Given the description of an element on the screen output the (x, y) to click on. 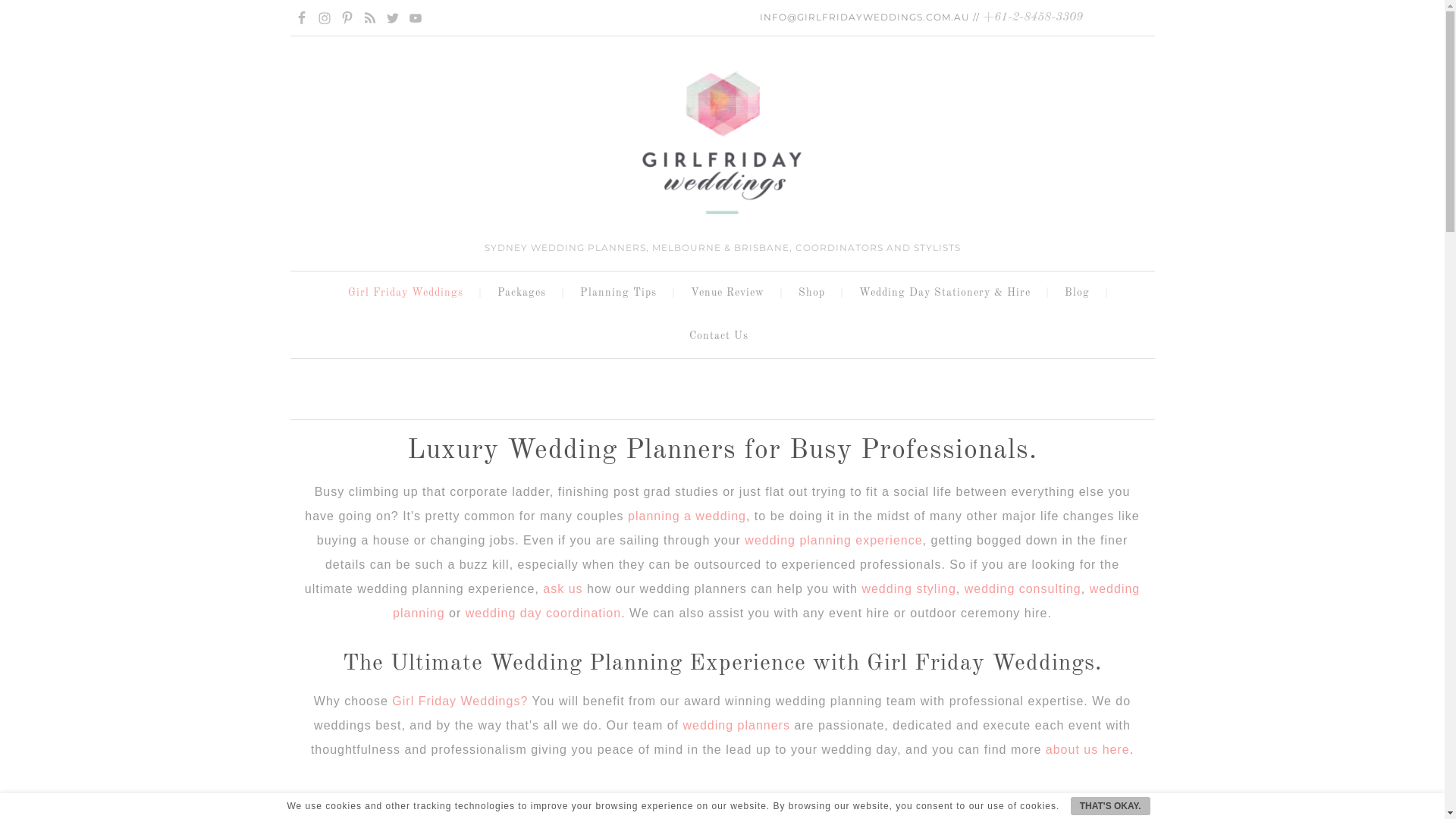
Girl Friday Weddings Element type: text (409, 292)
wedding planning experience Element type: text (833, 539)
about us here Element type: text (1087, 749)
THAT'S OKAY. Element type: text (1110, 806)
Wedding Planners & On The Day Coordinators Element type: text (721, 142)
wedding planning Element type: text (765, 600)
+61-2-8458-3309 Element type: text (1032, 17)
wedding day coordination Element type: text (543, 612)
wedding consulting Element type: text (1022, 588)
Contact Us Element type: text (722, 335)
Blog Element type: text (1079, 292)
wedding styling Element type: text (908, 588)
Planning Tips Element type: text (621, 292)
planning a wedding Element type: text (686, 515)
Girl Friday Weddings? Element type: text (459, 700)
ask us Element type: text (562, 588)
Shop Element type: text (815, 292)
wedding planners Element type: text (736, 724)
Wedding Day Stationery & Hire Element type: text (948, 292)
Packages Element type: text (524, 292)
Venue Review Element type: text (731, 292)
